Given the description of an element on the screen output the (x, y) to click on. 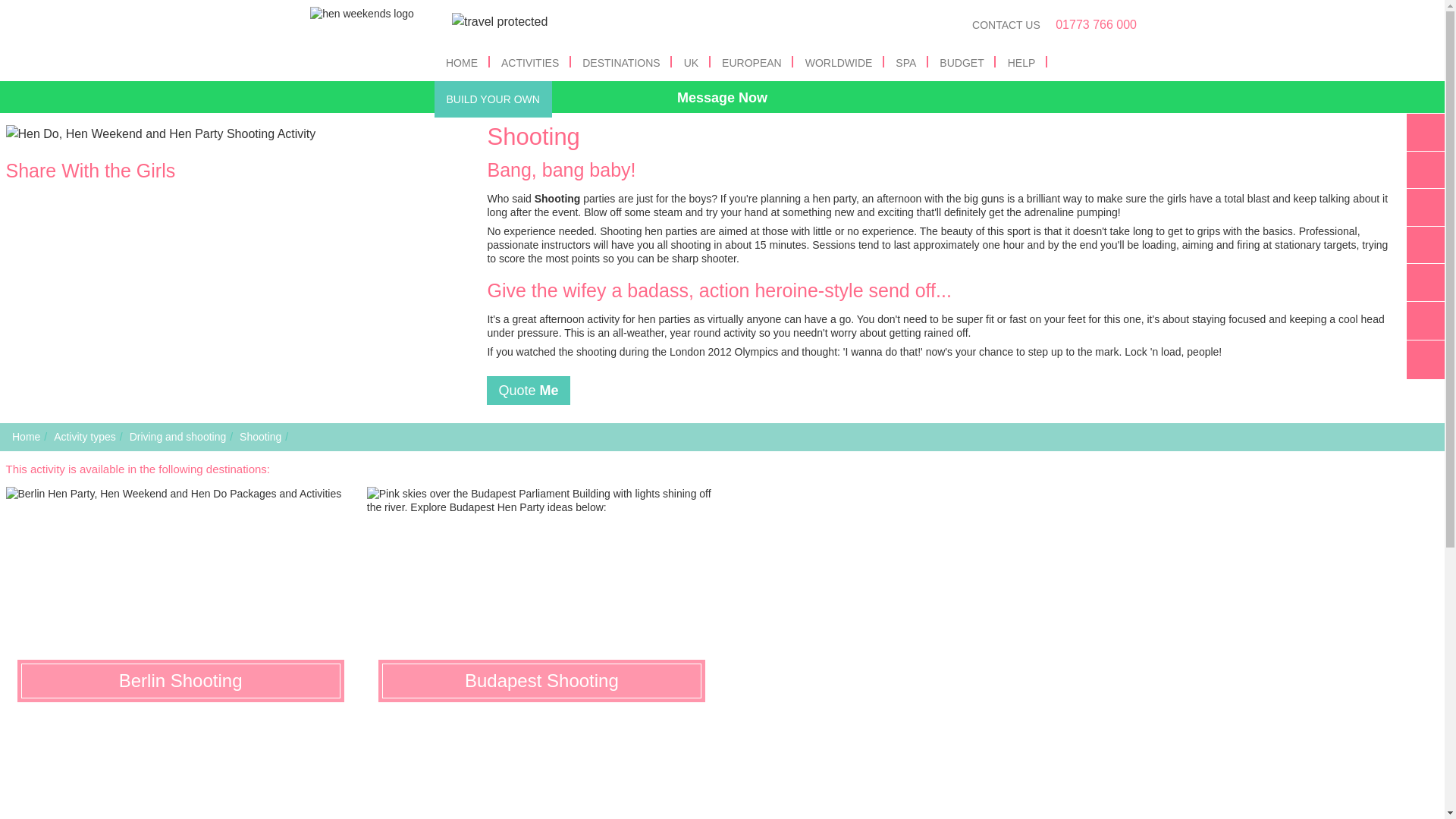
CONTACT US (1006, 24)
DESTINATIONS (620, 63)
UK (691, 63)
01773 766 000 (1096, 25)
ACTIVITIES (529, 63)
HOME (461, 63)
